Given the description of an element on the screen output the (x, y) to click on. 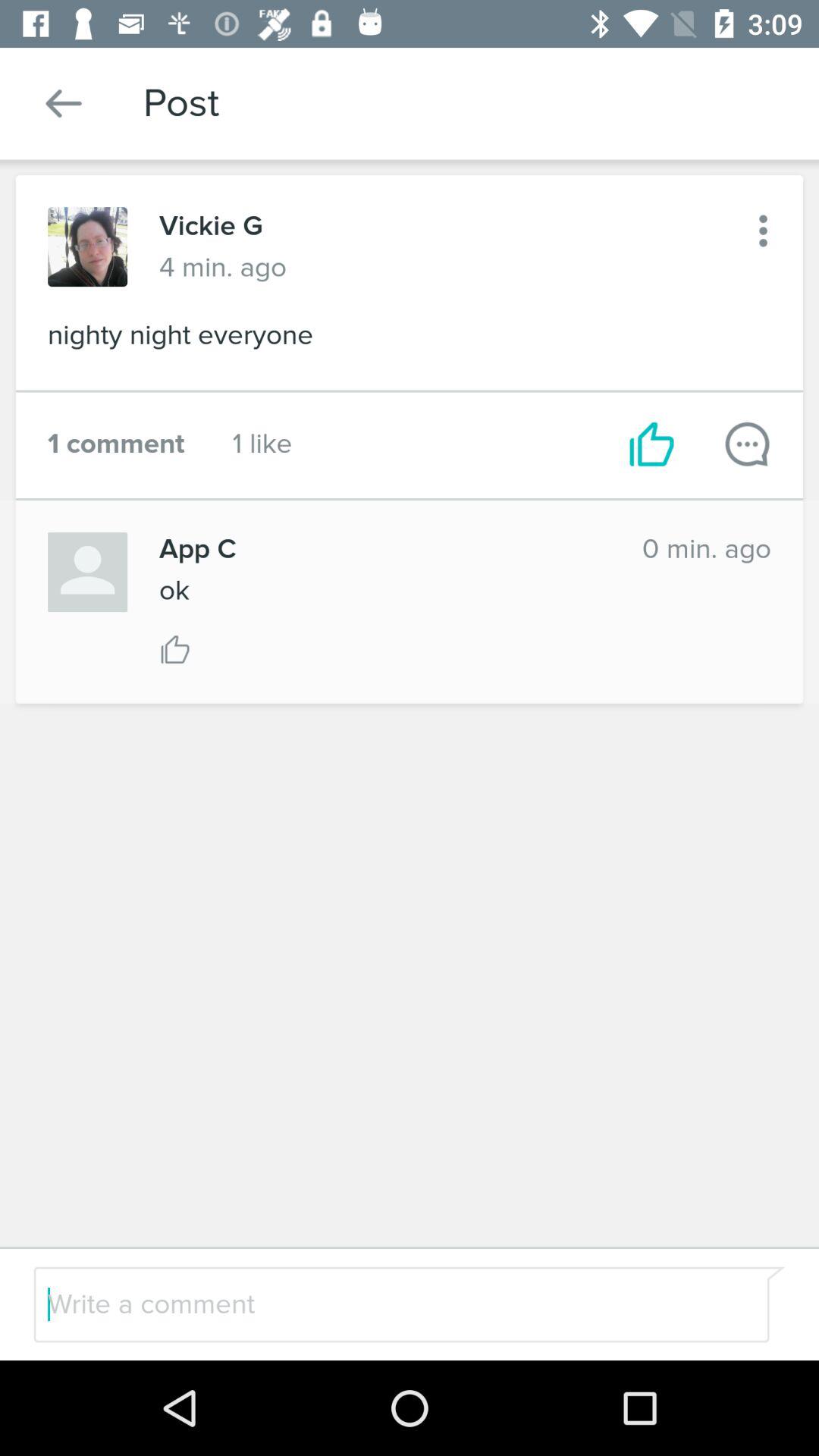
tap icon above ok item (384, 548)
